Given the description of an element on the screen output the (x, y) to click on. 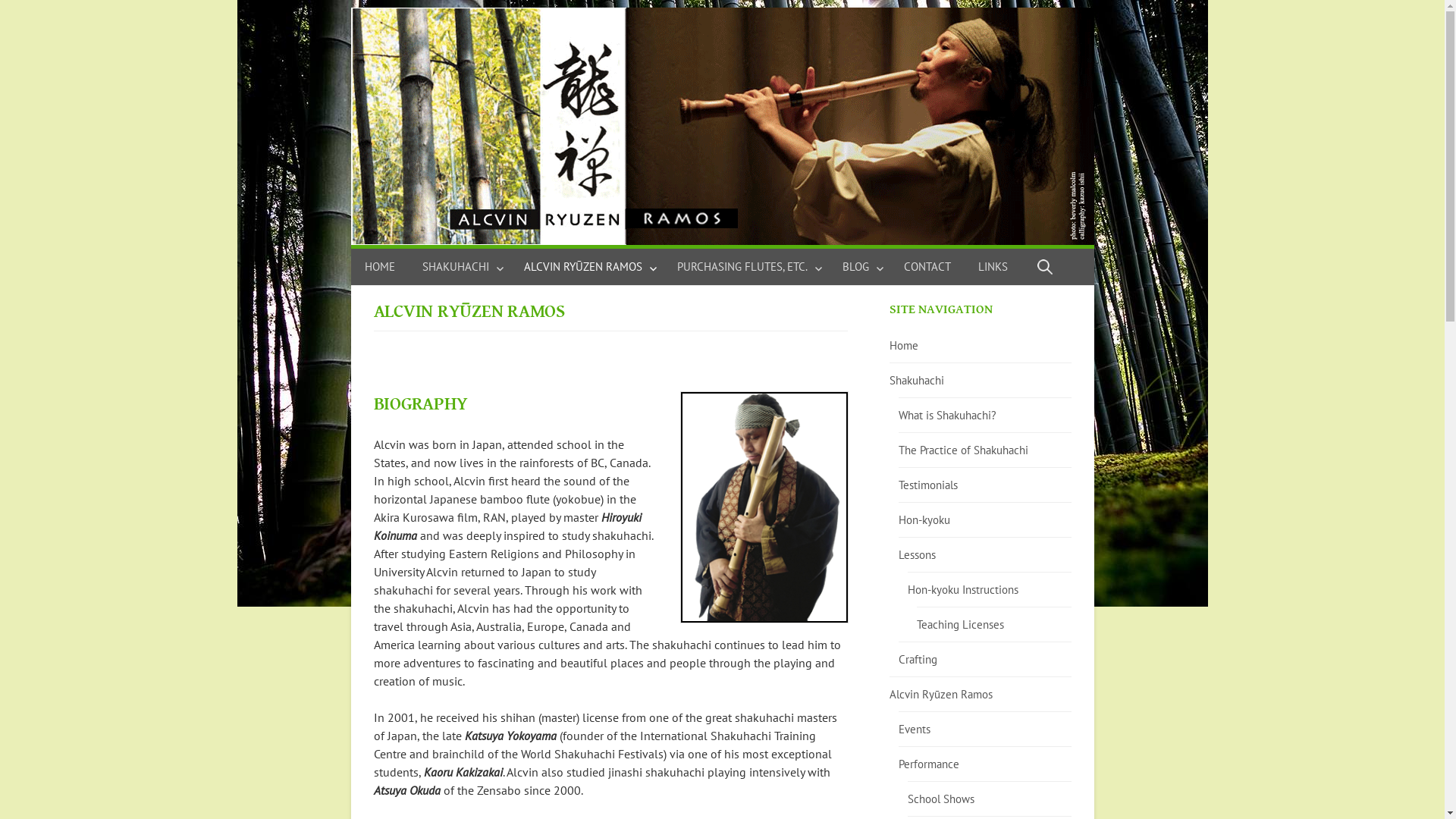
Hon-kyoku Element type: text (924, 519)
CONTACT Element type: text (927, 266)
Hon-kyoku Instructions Element type: text (962, 589)
Shakuhachi Element type: text (916, 380)
PURCHASING FLUTES, ETC. Element type: text (745, 266)
Performance Element type: text (928, 763)
Testimonials Element type: text (927, 484)
Search Element type: text (14, 14)
aboutimage1 Element type: hover (763, 507)
Teaching Licenses Element type: text (960, 624)
Skip to content Element type: text (350, 6)
School Shows Element type: text (940, 798)
What is Shakuhachi? Element type: text (947, 414)
Crafting Element type: text (917, 659)
LINKS Element type: text (992, 266)
Lessons Element type: text (916, 554)
SHAKUHACHI Element type: text (458, 266)
The Practice of Shakuhachi Element type: text (963, 449)
Home Element type: text (903, 345)
BLOG Element type: text (858, 266)
Events Element type: text (914, 728)
HOME Element type: text (385, 266)
